Given the description of an element on the screen output the (x, y) to click on. 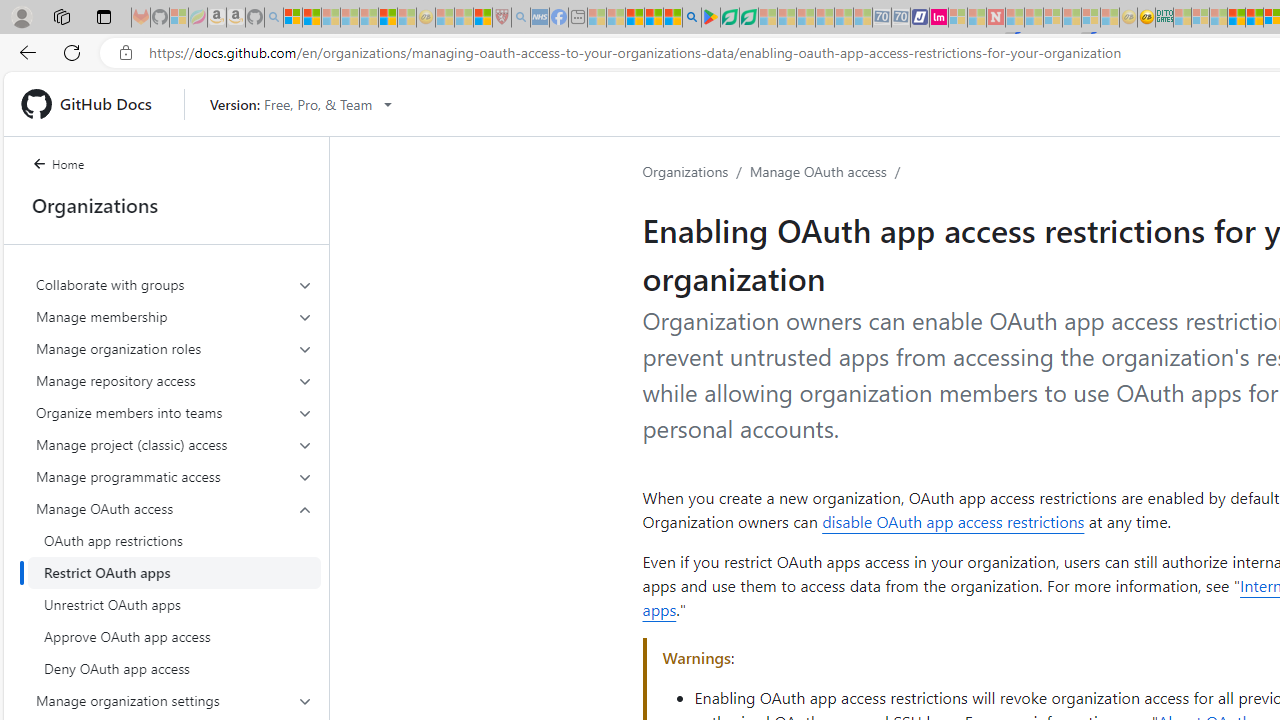
Manage organization roles (174, 348)
Restrict OAuth apps (174, 572)
Organizations/ (696, 171)
Latest Politics News & Archive | Newsweek.com - Sleeping (995, 17)
Expert Portfolios (1236, 17)
Manage organization settings (174, 700)
New Report Confirms 2023 Was Record Hot | Watch - Sleeping (368, 17)
Manage repository access (174, 380)
The Weather Channel - MSN - Sleeping (331, 17)
Manage membership (174, 316)
Organizations (685, 171)
